Given the description of an element on the screen output the (x, y) to click on. 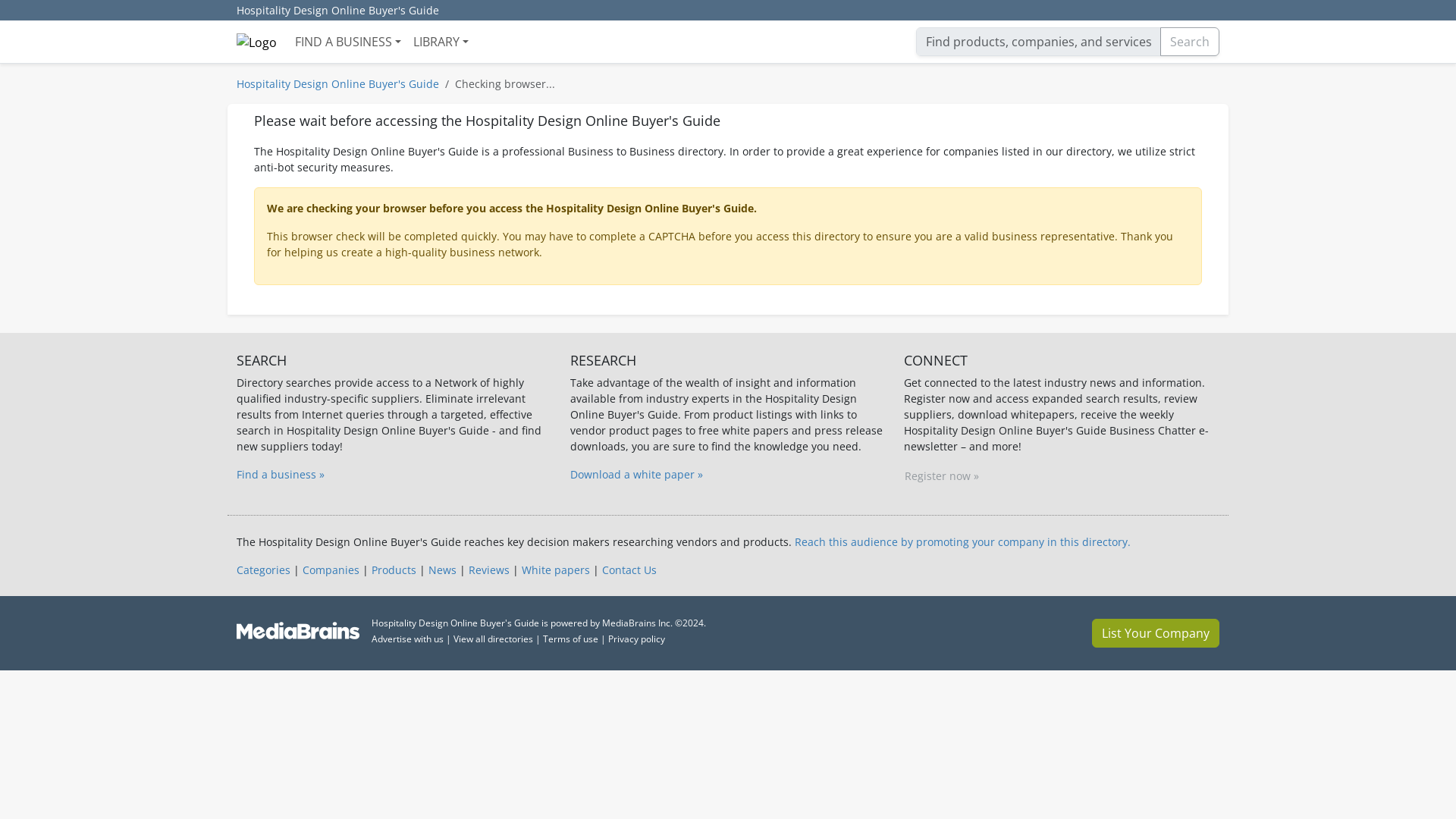
Advertise with us (407, 638)
Categories (262, 569)
Hospitality Design Online Buyer's Guide (337, 83)
Privacy policy (636, 638)
View all directories (492, 638)
Companies (330, 569)
Hospitality Design Online Buyer's Guide (337, 10)
Search (1190, 41)
Terms of use (570, 638)
White papers (555, 569)
